Given the description of an element on the screen output the (x, y) to click on. 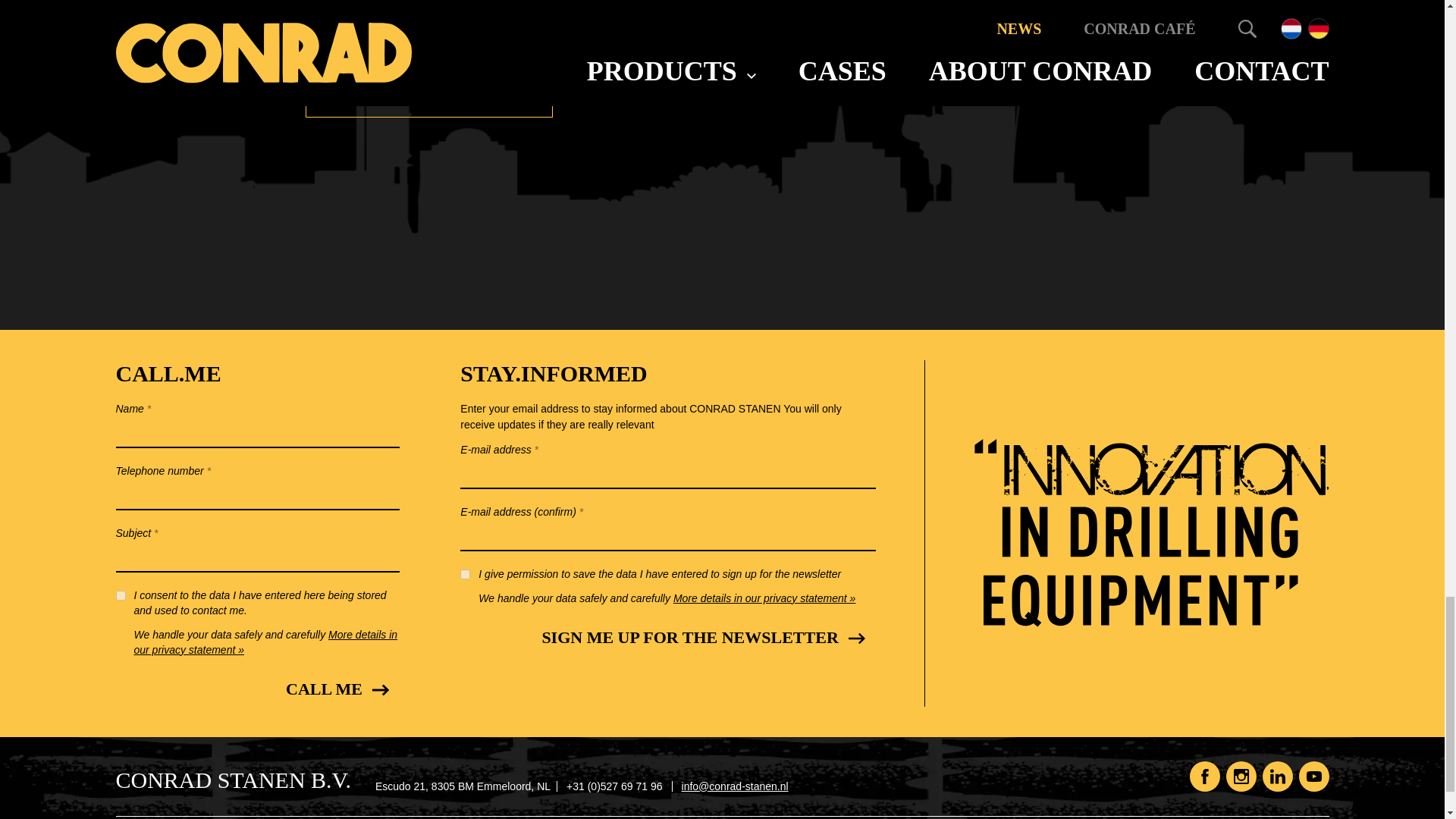
on (465, 574)
CALL ME (334, 689)
SIGN ME UP FOR THE NEWSLETTER (701, 637)
on (120, 595)
RETURN TO OVERVIEW (428, 100)
